Given the description of an element on the screen output the (x, y) to click on. 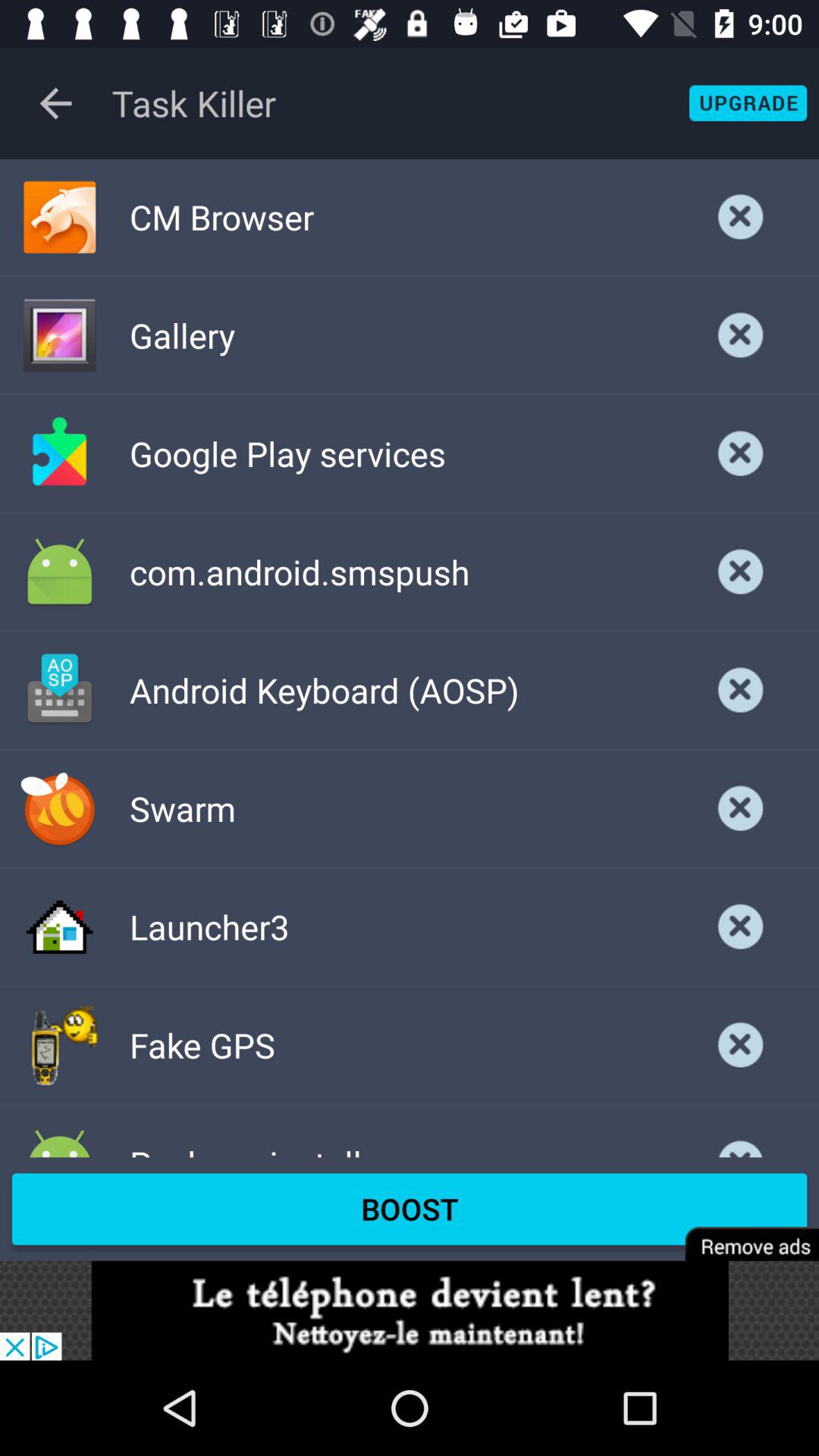
delete selection (740, 335)
